Given the description of an element on the screen output the (x, y) to click on. 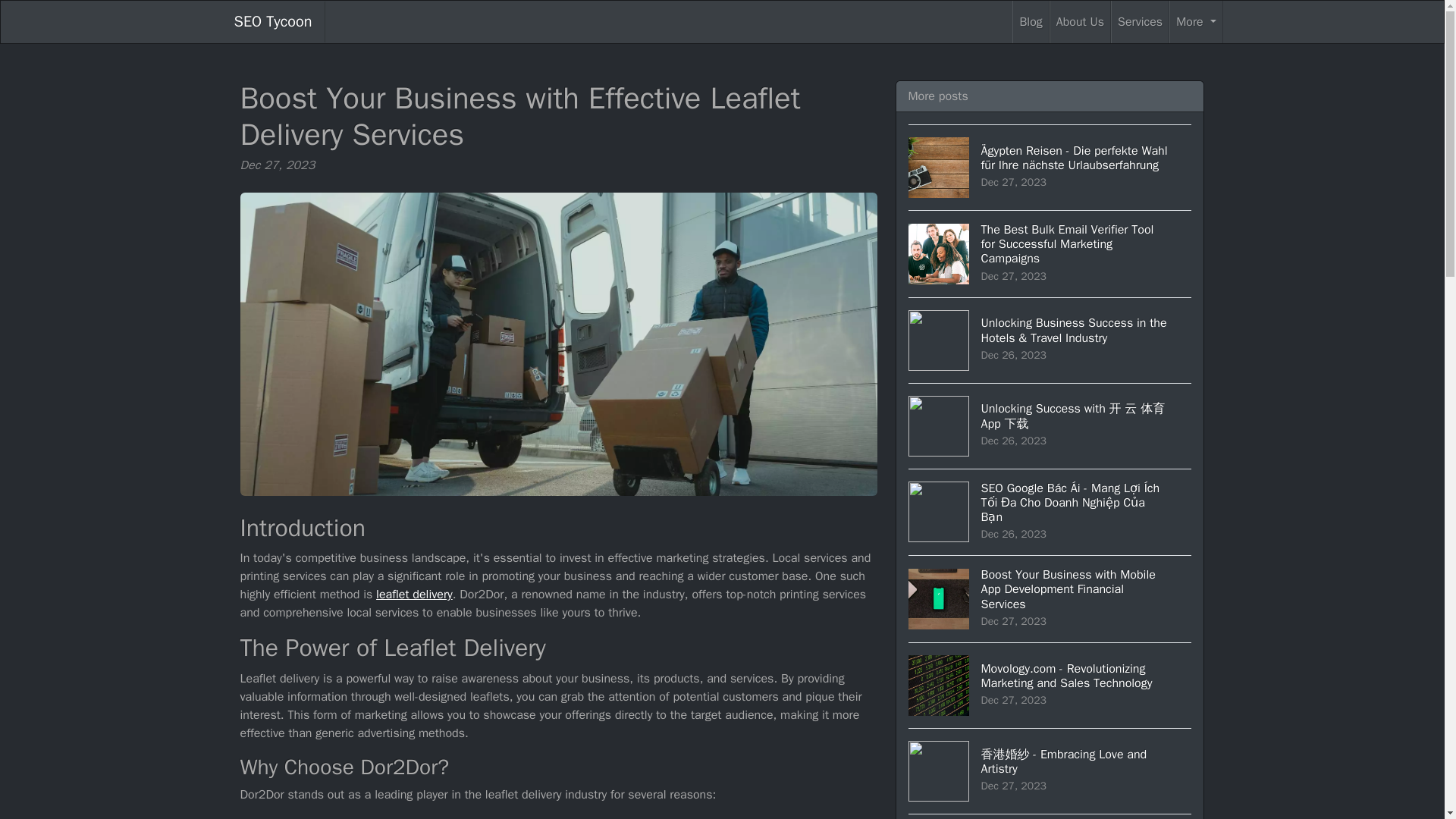
Services (1139, 21)
More (1196, 21)
About Us (1079, 21)
SEO Tycoon (272, 21)
leaflet delivery (413, 594)
